Given the description of an element on the screen output the (x, y) to click on. 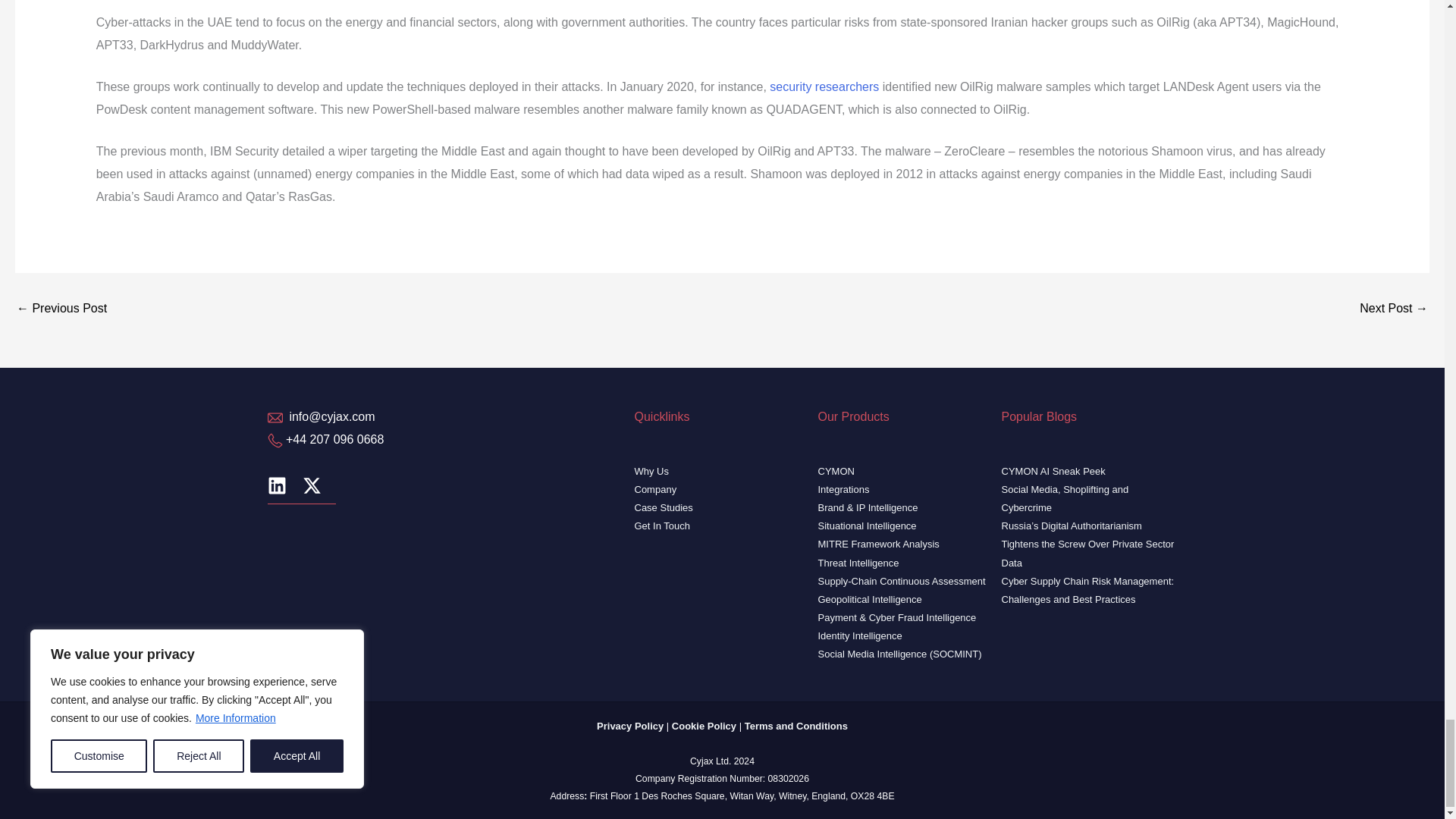
US-Iran tensions decrease - for now (61, 308)
Deobfuscating Ostap Downloader (1393, 308)
